Given the description of an element on the screen output the (x, y) to click on. 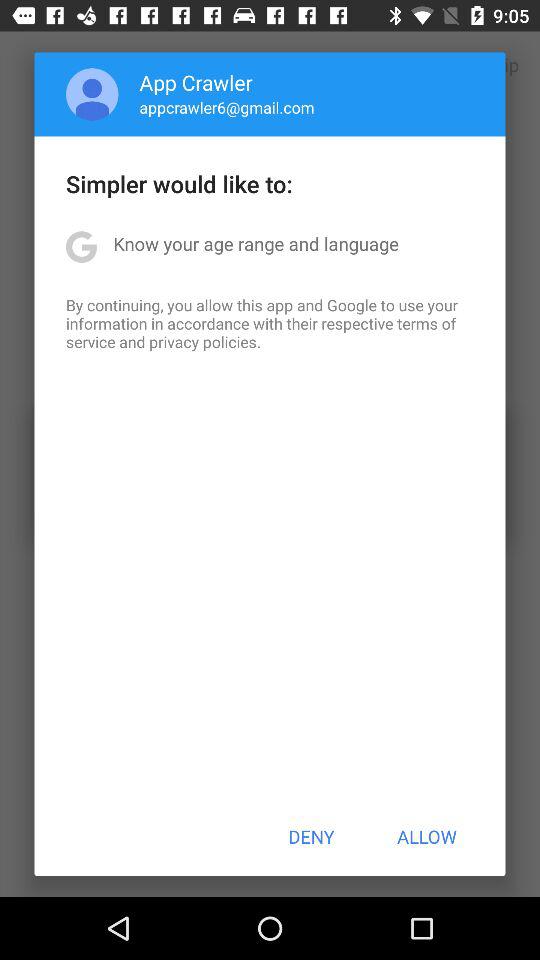
tap app crawler item (195, 82)
